Given the description of an element on the screen output the (x, y) to click on. 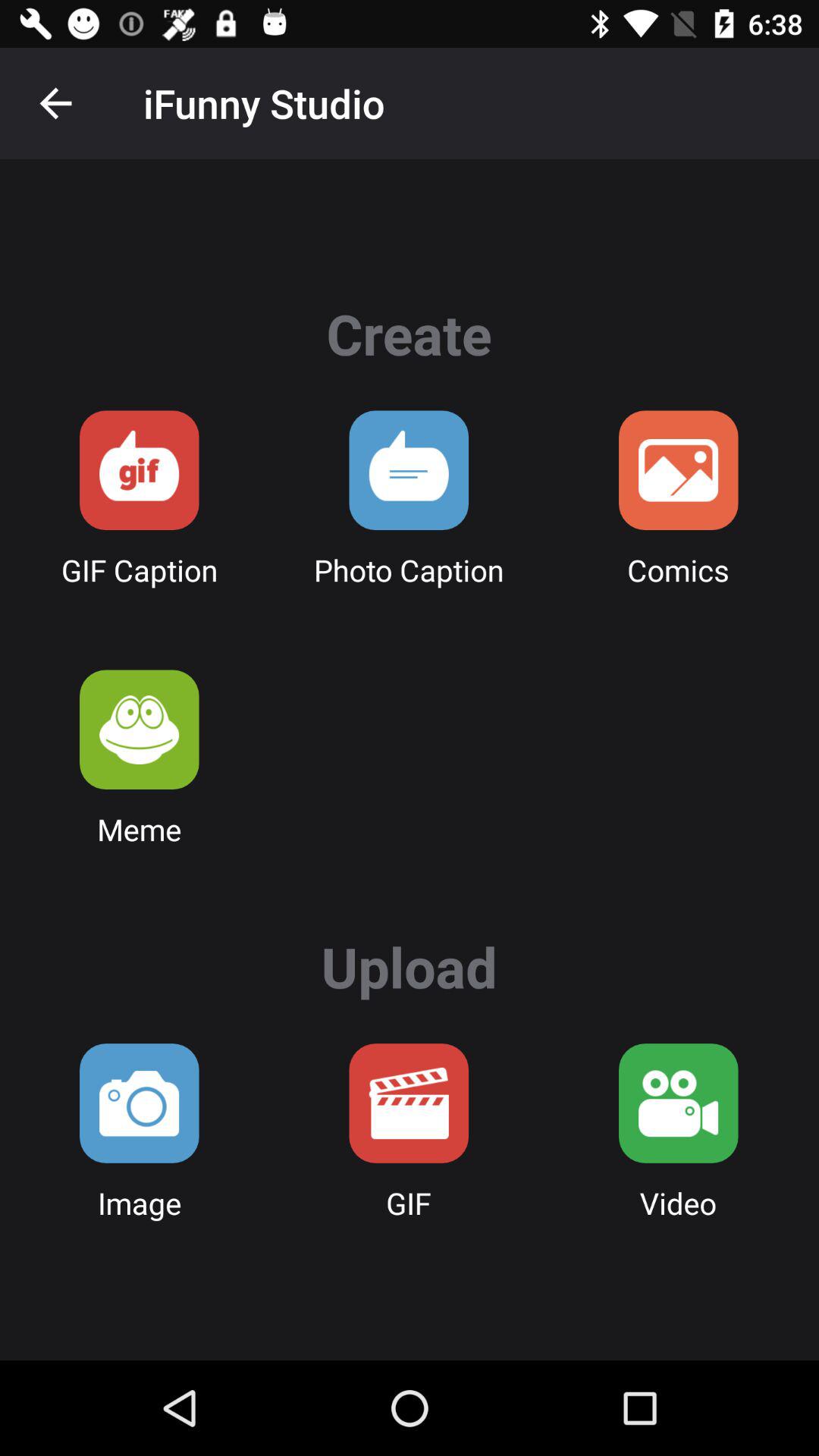
open image (139, 1103)
